Given the description of an element on the screen output the (x, y) to click on. 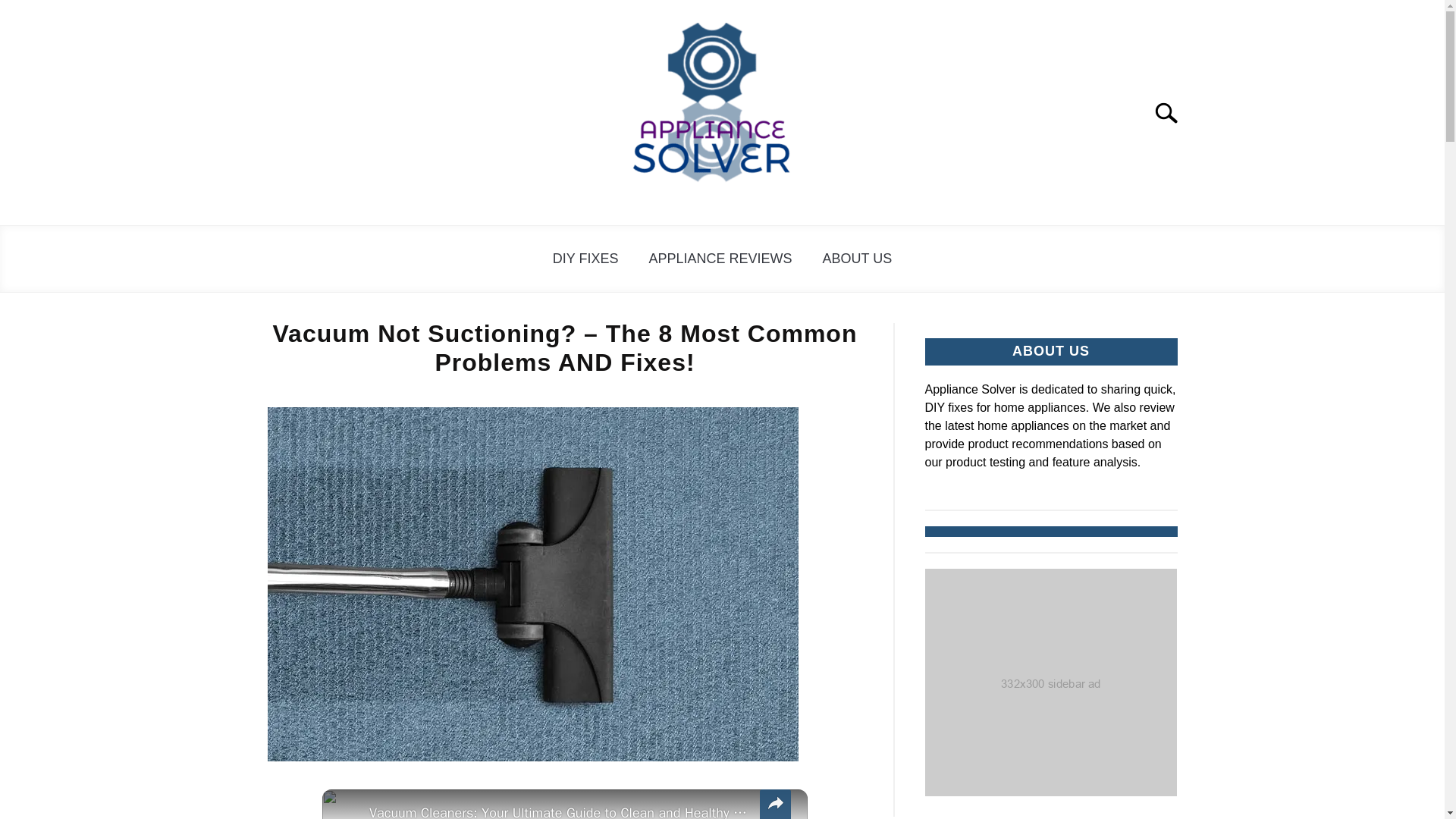
Search (1172, 112)
DIY FIXES (585, 258)
share (775, 804)
ABOUT US (857, 258)
APPLIANCE REVIEWS (719, 258)
Share (775, 804)
